Given the description of an element on the screen output the (x, y) to click on. 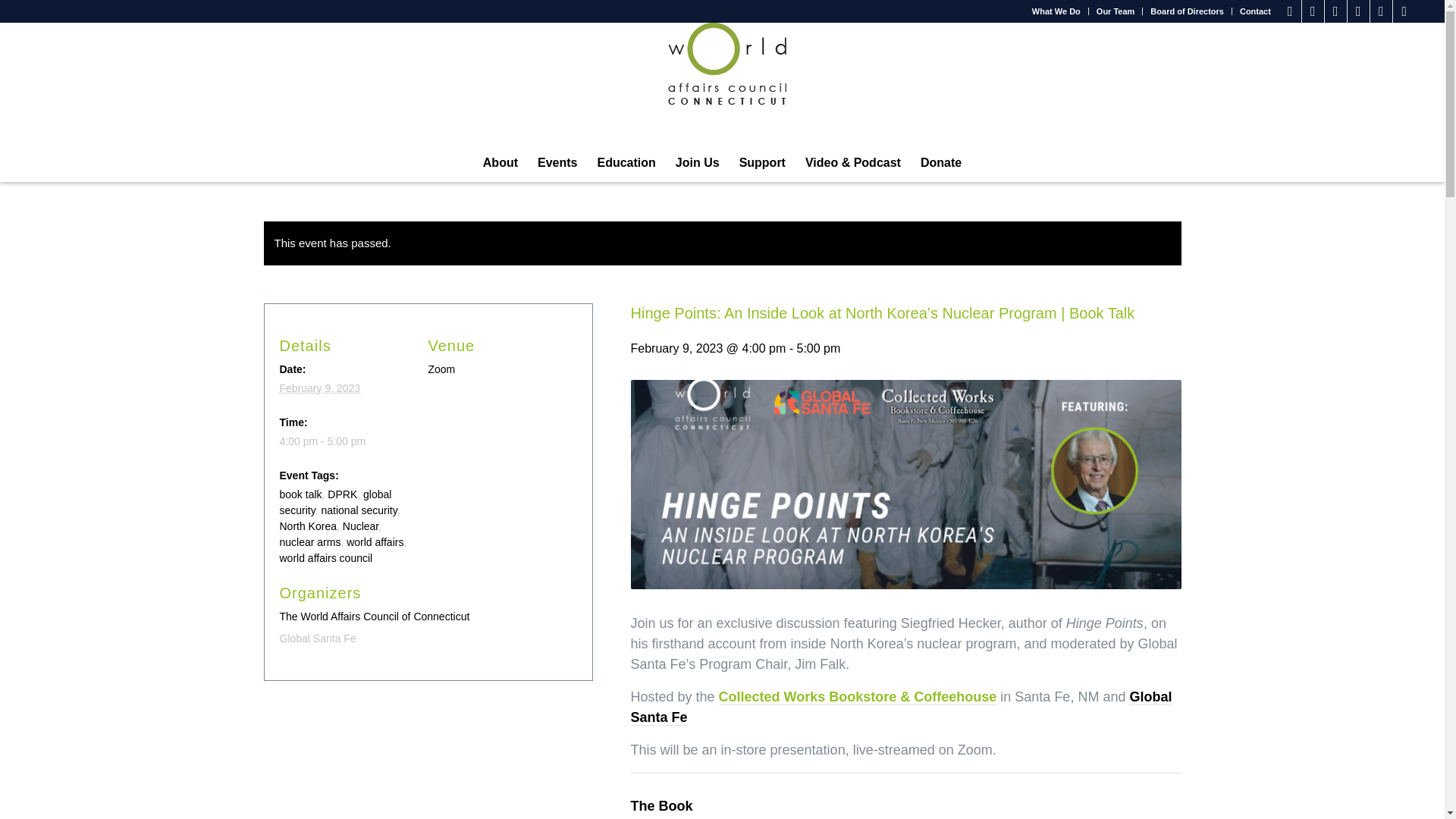
Our Team (1115, 11)
About (500, 162)
Education (625, 162)
What We Do (1056, 11)
Board of Directors (1187, 11)
Blogger (1404, 11)
Events (556, 162)
Facebook (1290, 11)
Contact (1255, 11)
Instagram (1335, 11)
Youtube (1380, 11)
LinkedIn (1359, 11)
Twitter (1312, 11)
